Given the description of an element on the screen output the (x, y) to click on. 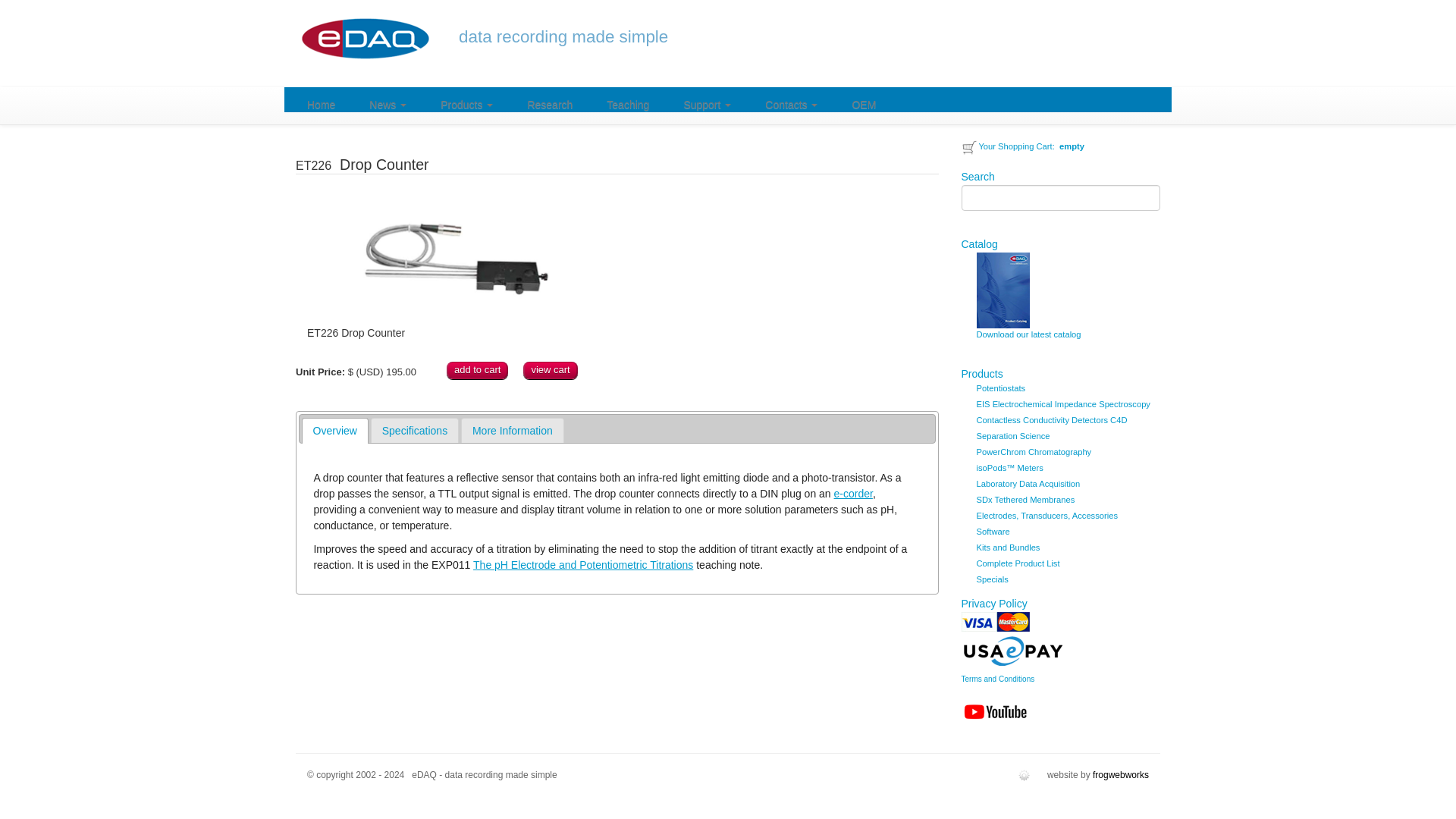
data recording made simple (563, 36)
Support (707, 102)
Teaching (627, 102)
Products (466, 102)
view cart (549, 370)
add to cart (477, 370)
News (387, 102)
Research (549, 102)
Contacts (791, 102)
ET226 Drop Counter (456, 261)
